Given the description of an element on the screen output the (x, y) to click on. 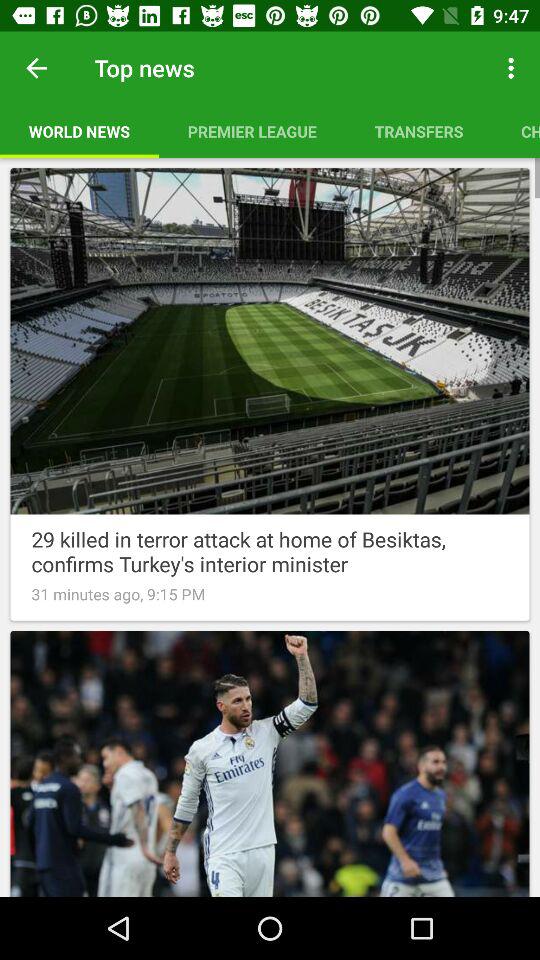
select the icon above the world news (36, 68)
